Given the description of an element on the screen output the (x, y) to click on. 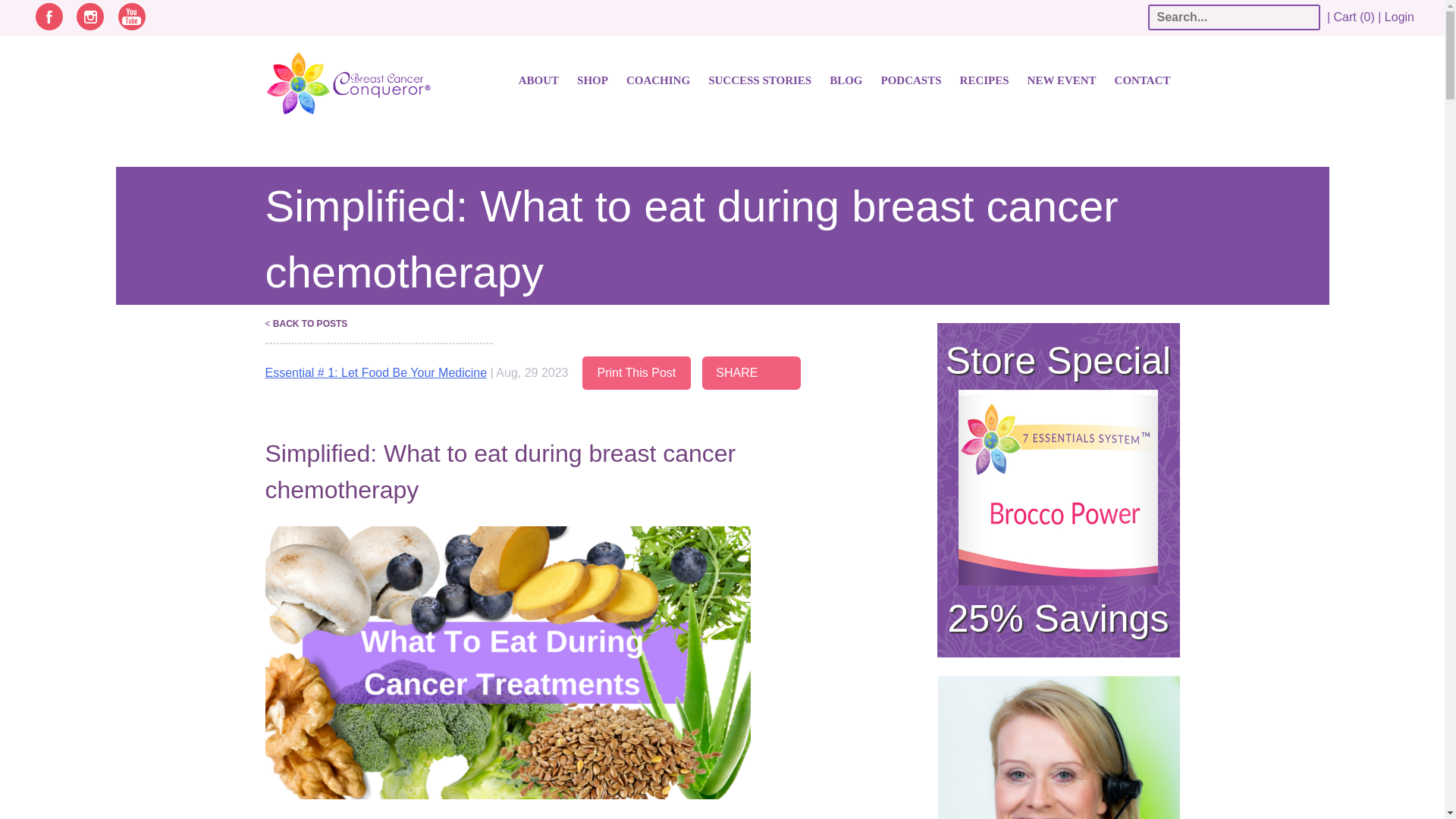
BLOG (845, 80)
PODCASTS (911, 80)
Breast Cancer Conqueror (333, 88)
SHOP (592, 80)
RECIPES (984, 80)
ABOUT (538, 80)
CONTACT (1142, 80)
NEW EVENT (1061, 80)
Print This Post (636, 372)
SUCCESS STORIES (758, 80)
COACHING (658, 80)
Print This Post (636, 372)
